Given the description of an element on the screen output the (x, y) to click on. 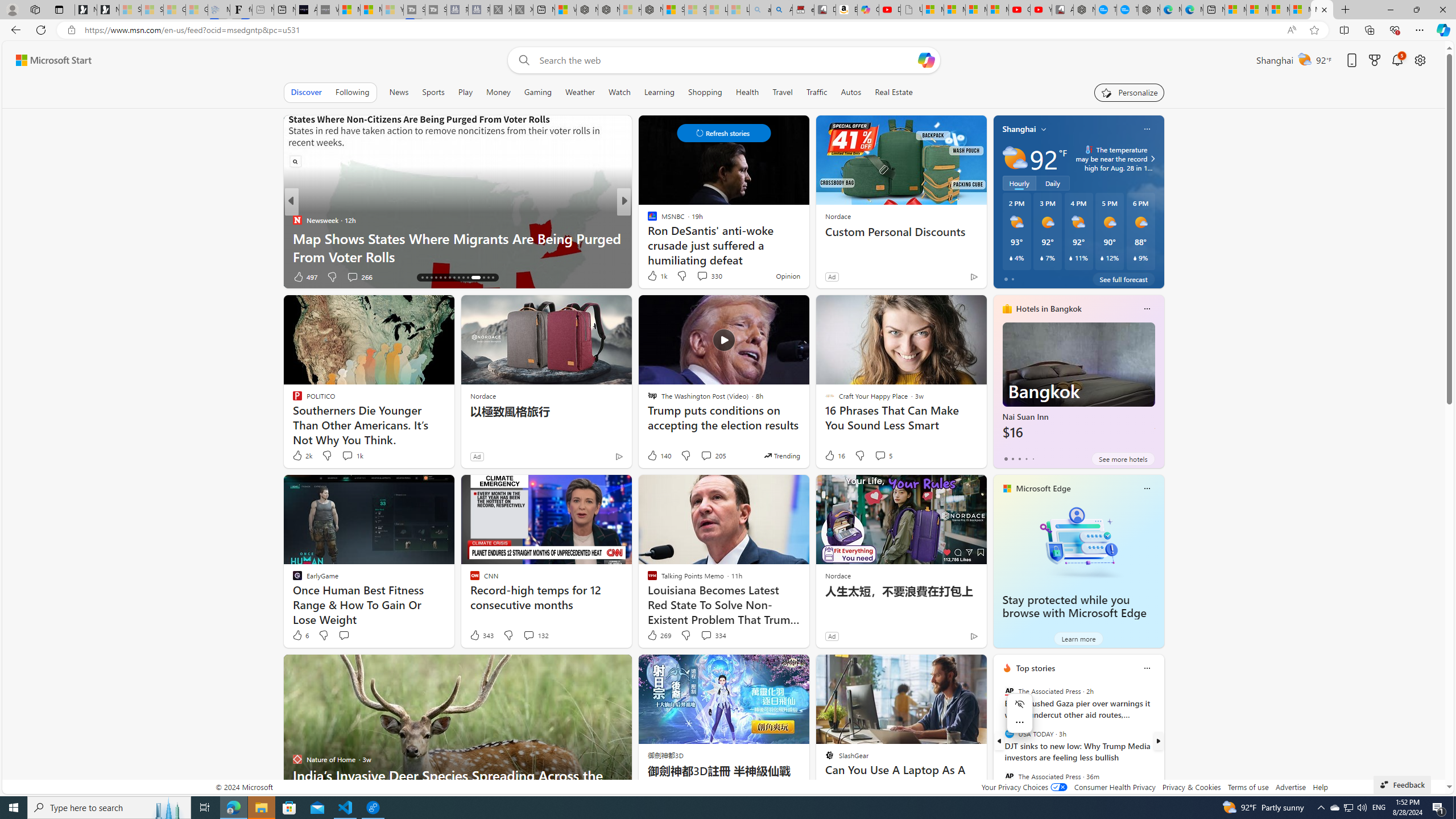
The most popular Google 'how to' searches (1127, 9)
Enter your search term (726, 59)
Stay protected while you browse with Microsoft Edge (1077, 541)
AutomationID: tab-30 (492, 277)
View comments 132 Comment (528, 635)
AutomationID: tab-17 (426, 277)
Money (498, 92)
Copilot (868, 9)
Traffic (816, 92)
Notifications (1397, 60)
